Given the description of an element on the screen output the (x, y) to click on. 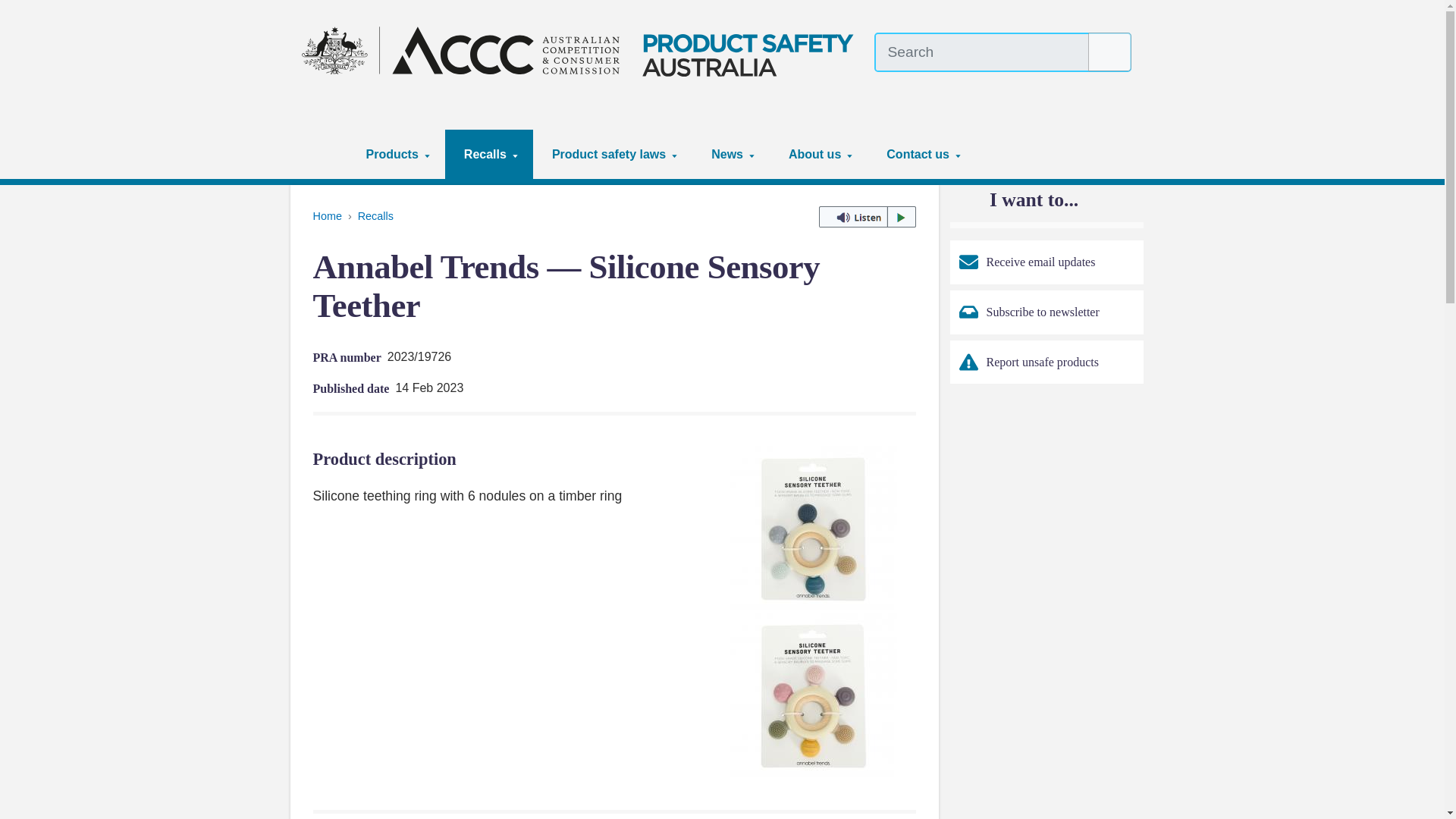
About website translation (1123, 87)
Products (396, 154)
Home (324, 154)
Product Safety Australia home (582, 49)
Listen to this page using ReadSpeaker (866, 216)
Search (1109, 51)
